Given the description of an element on the screen output the (x, y) to click on. 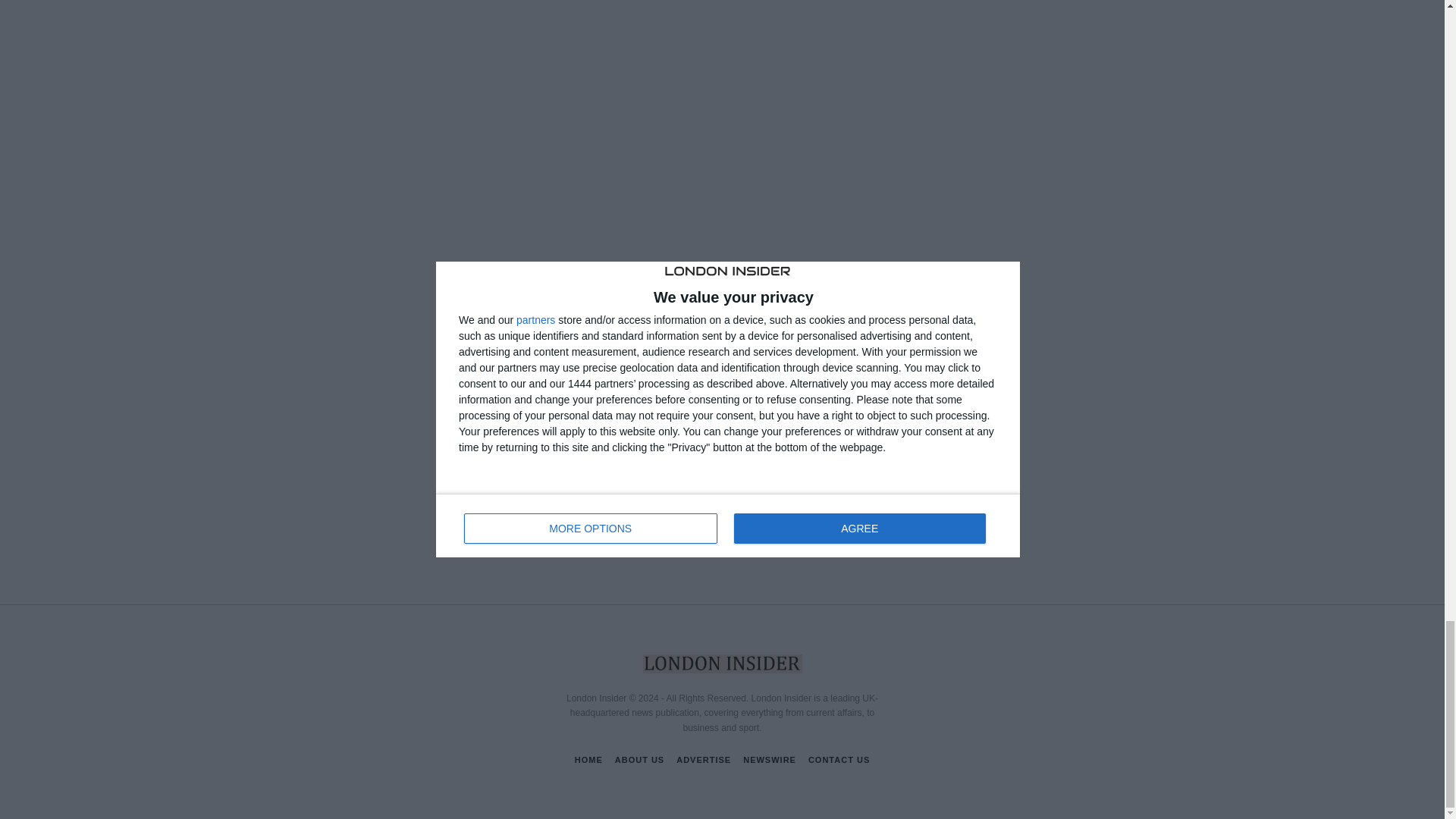
ABOUT US (638, 759)
ADVERTISE (703, 759)
CONTACT US (838, 759)
NEWSWIRE (769, 759)
HOME (588, 759)
